Given the description of an element on the screen output the (x, y) to click on. 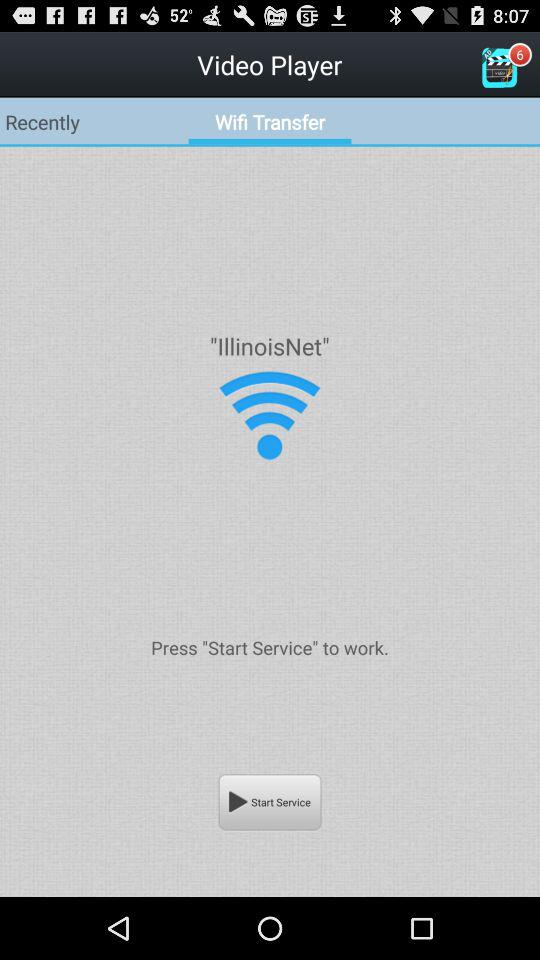
turn on wifi (269, 415)
